Given the description of an element on the screen output the (x, y) to click on. 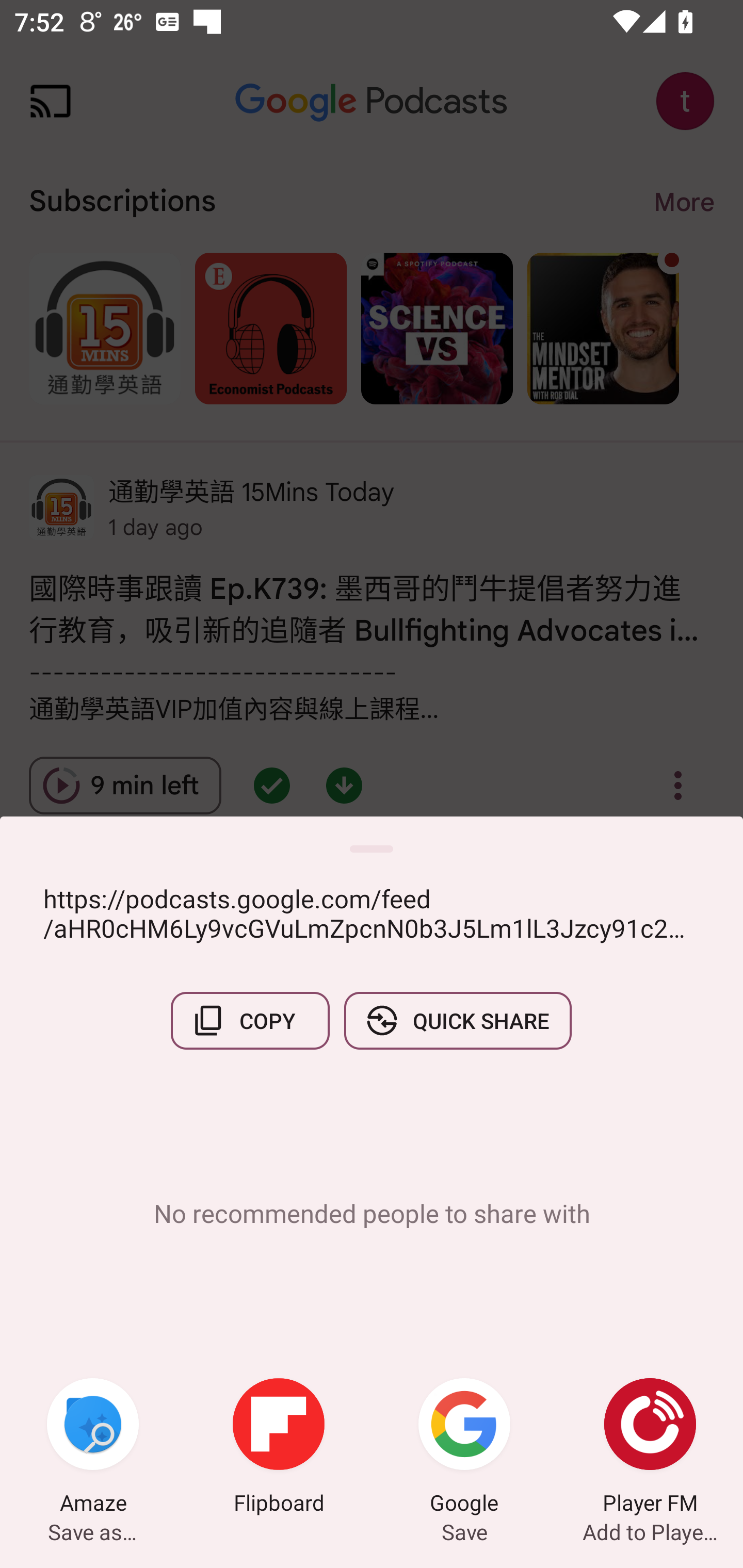
COPY (249, 1020)
QUICK SHARE (457, 1020)
Amaze Save as… (92, 1448)
Flipboard (278, 1448)
Google Save (464, 1448)
Player FM Add to Player FM (650, 1448)
